Given the description of an element on the screen output the (x, y) to click on. 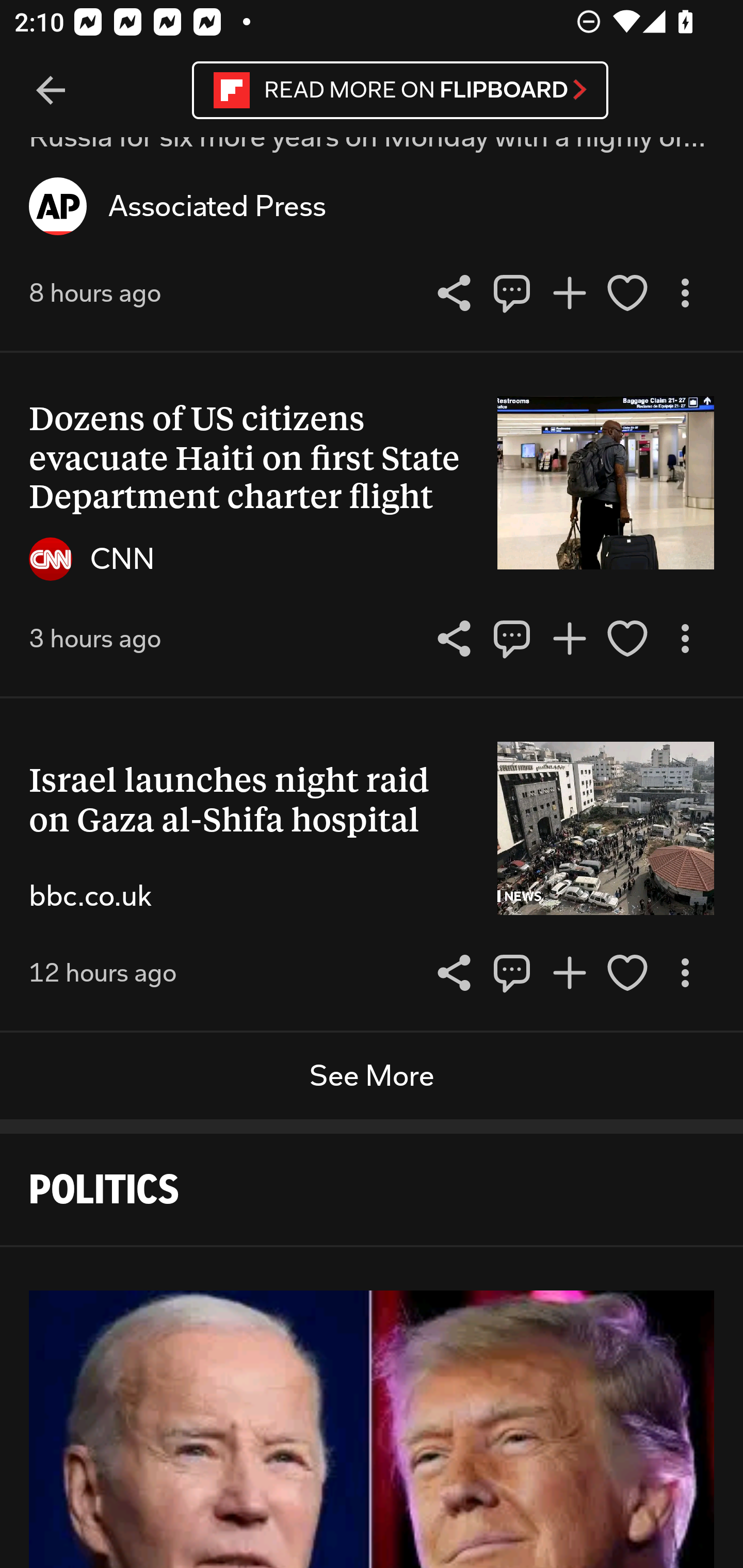
Back (50, 90)
READ MORE ON FLIPBOARD (399, 90)
Share (453, 292)
Share (511, 292)
Flip into Magazine (569, 292)
Like (627, 292)
Options (685, 292)
Share (453, 638)
Share (511, 638)
Flip into Magazine (569, 638)
Like (627, 638)
Options (685, 638)
Share (453, 972)
Share (511, 972)
Flip into Magazine (569, 972)
Like (627, 972)
Options (685, 972)
See More (371, 1076)
